Given the description of an element on the screen output the (x, y) to click on. 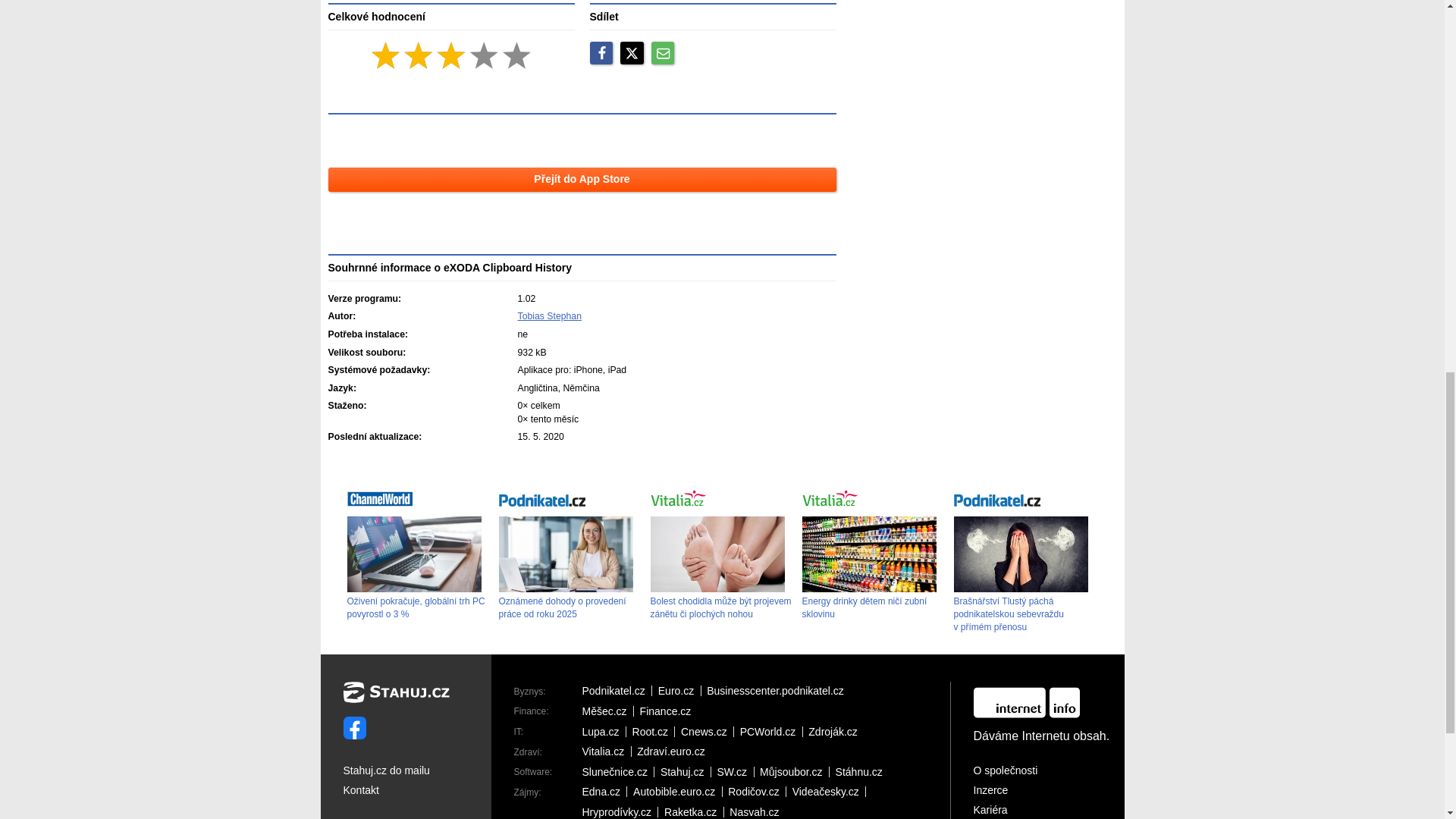
Finance.cz (668, 710)
Euro.cz (679, 690)
businesscenter.podnikatel.cz (778, 690)
Cnews.cz (707, 731)
Tobias Stephan (548, 316)
